Given the description of an element on the screen output the (x, y) to click on. 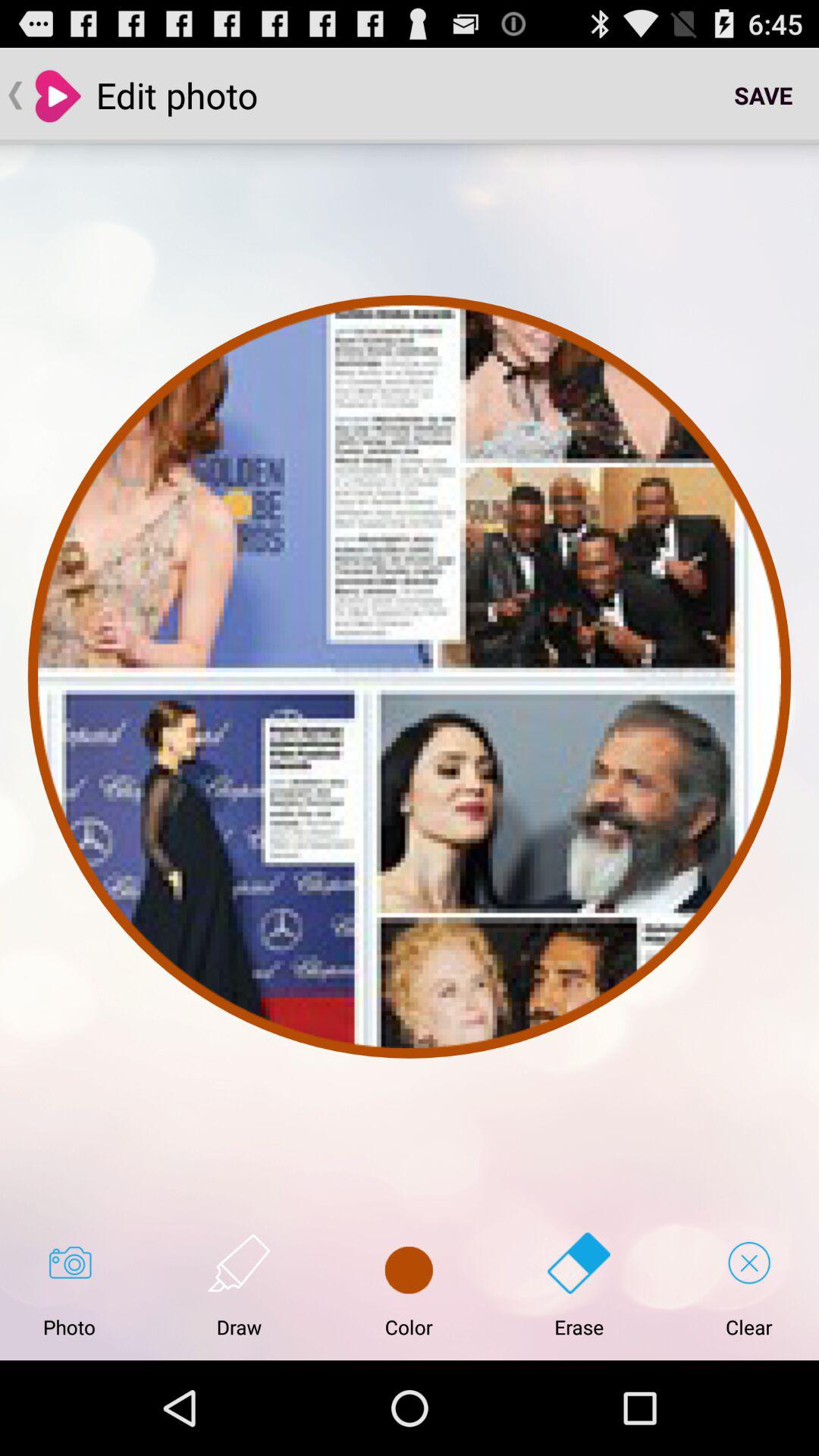
click the icon next to edit photo (763, 95)
